Given the description of an element on the screen output the (x, y) to click on. 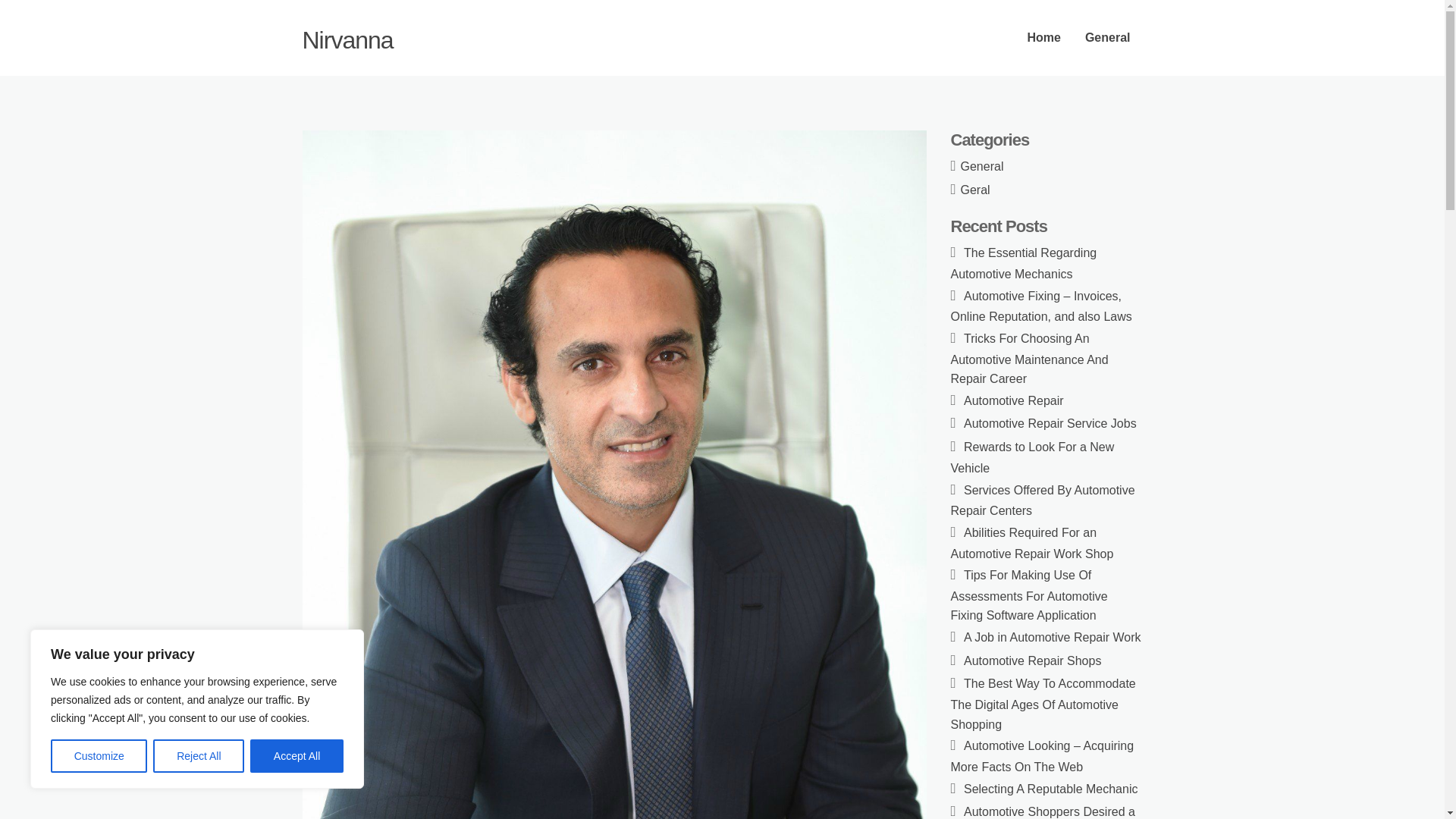
The Essential Regarding Automotive Mechanics (1023, 263)
Geral (975, 189)
Accept All (296, 756)
Reject All (198, 756)
Customize (98, 756)
General (1107, 37)
Home (1042, 37)
Nirvanna (347, 39)
General (982, 165)
